Given the description of an element on the screen output the (x, y) to click on. 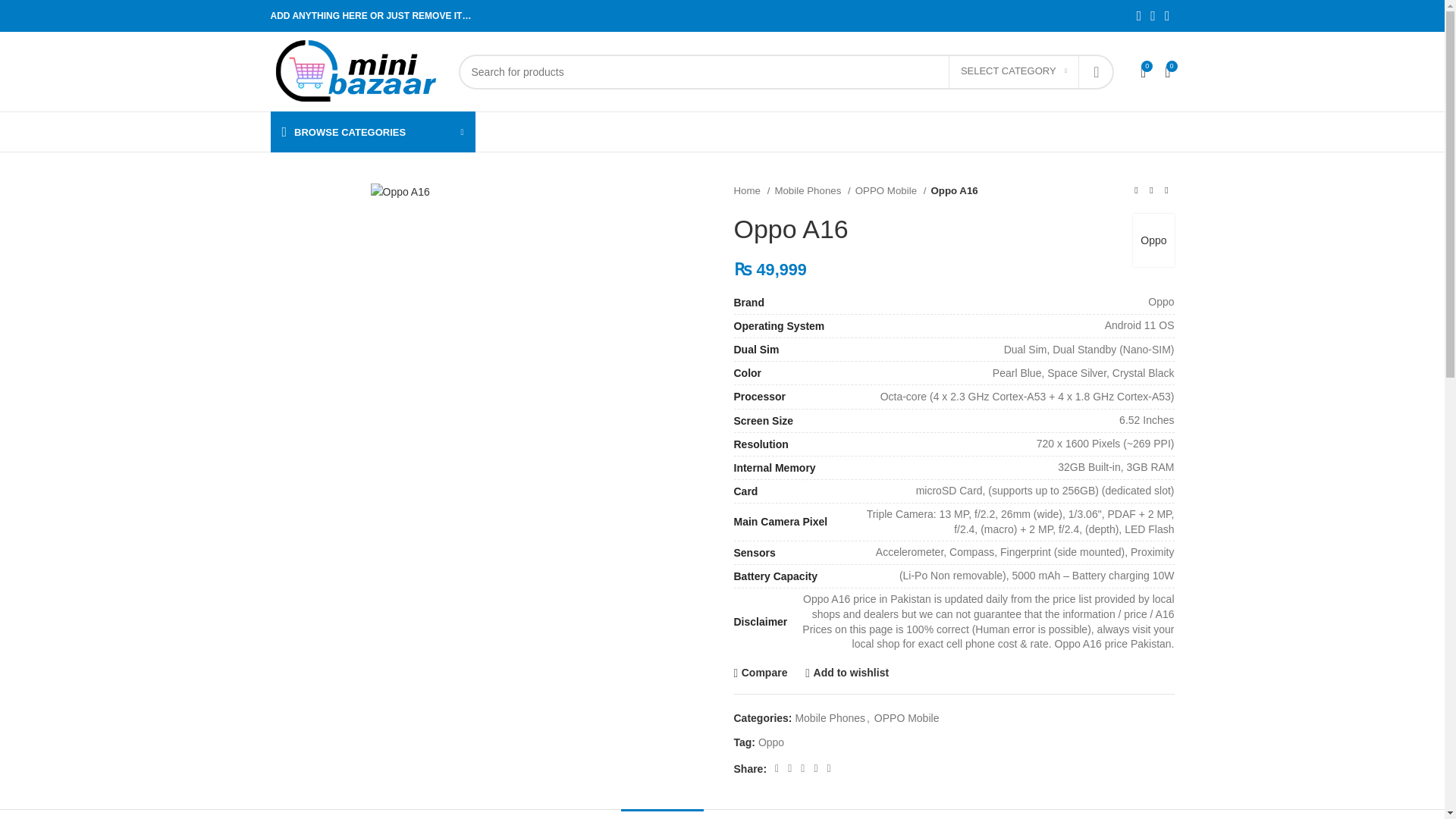
SEARCH (1095, 71)
Search for products (785, 71)
SELECT CATEGORY (1013, 71)
Oppo-A16 (399, 191)
SELECT CATEGORY (1013, 71)
